Given the description of an element on the screen output the (x, y) to click on. 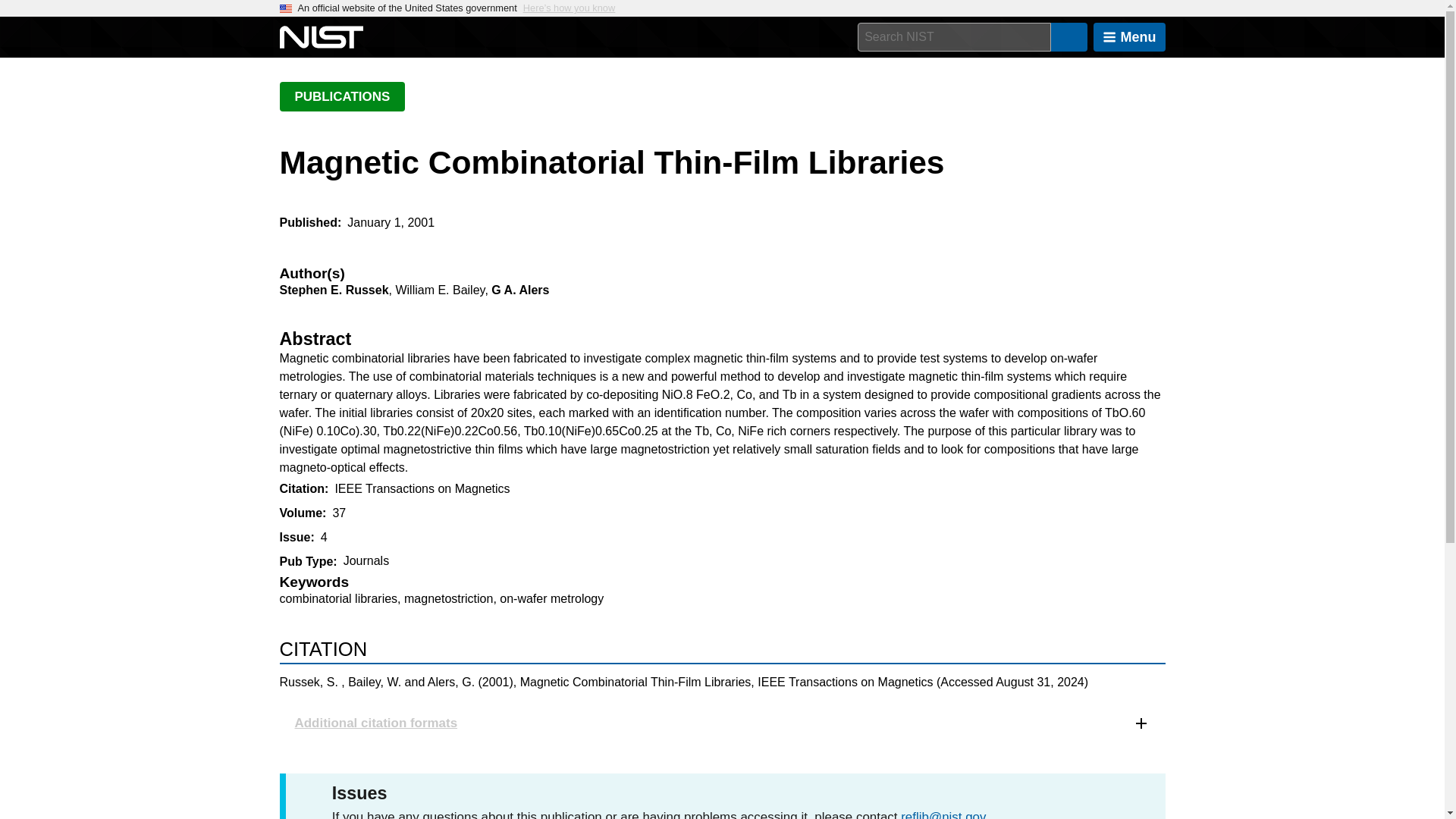
National Institute of Standards and Technology (320, 36)
Menu (1129, 36)
PUBLICATIONS (341, 96)
Additional citation formats (721, 722)
